Given the description of an element on the screen output the (x, y) to click on. 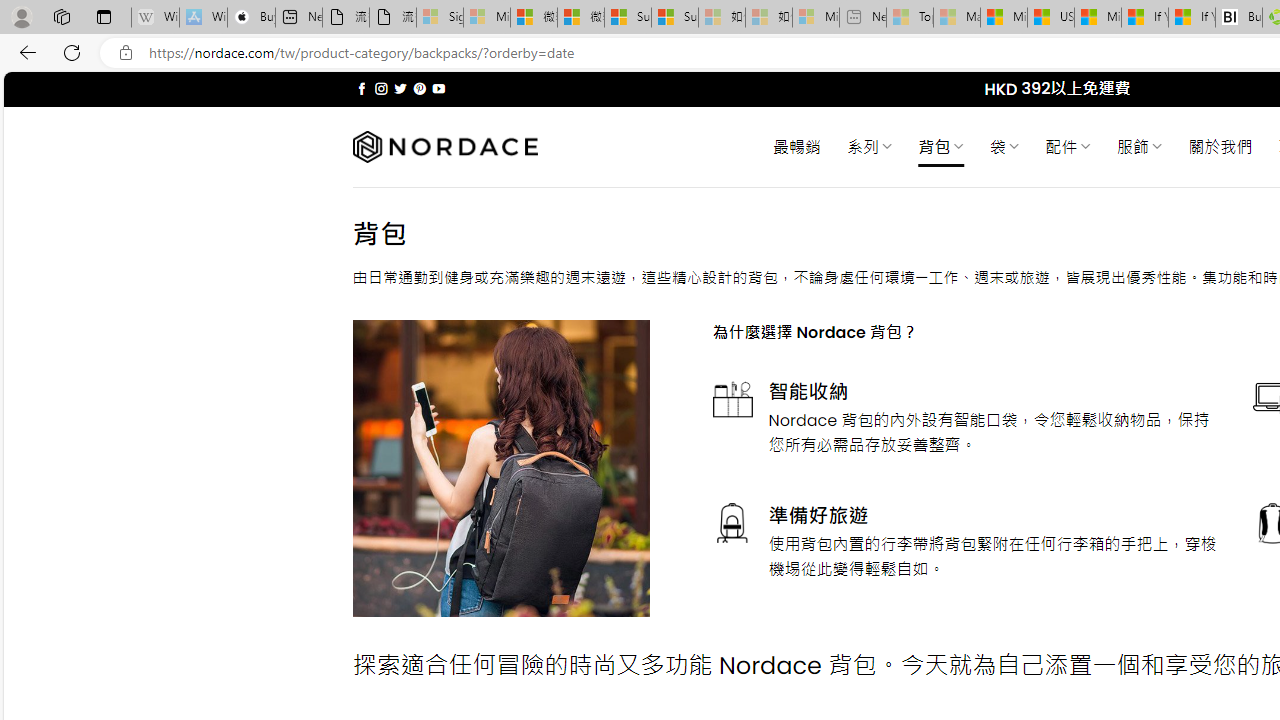
Follow on Facebook (361, 88)
Sign in to your Microsoft account - Sleeping (440, 17)
Buy iPad - Apple (251, 17)
Follow on Pinterest (419, 88)
